Given the description of an element on the screen output the (x, y) to click on. 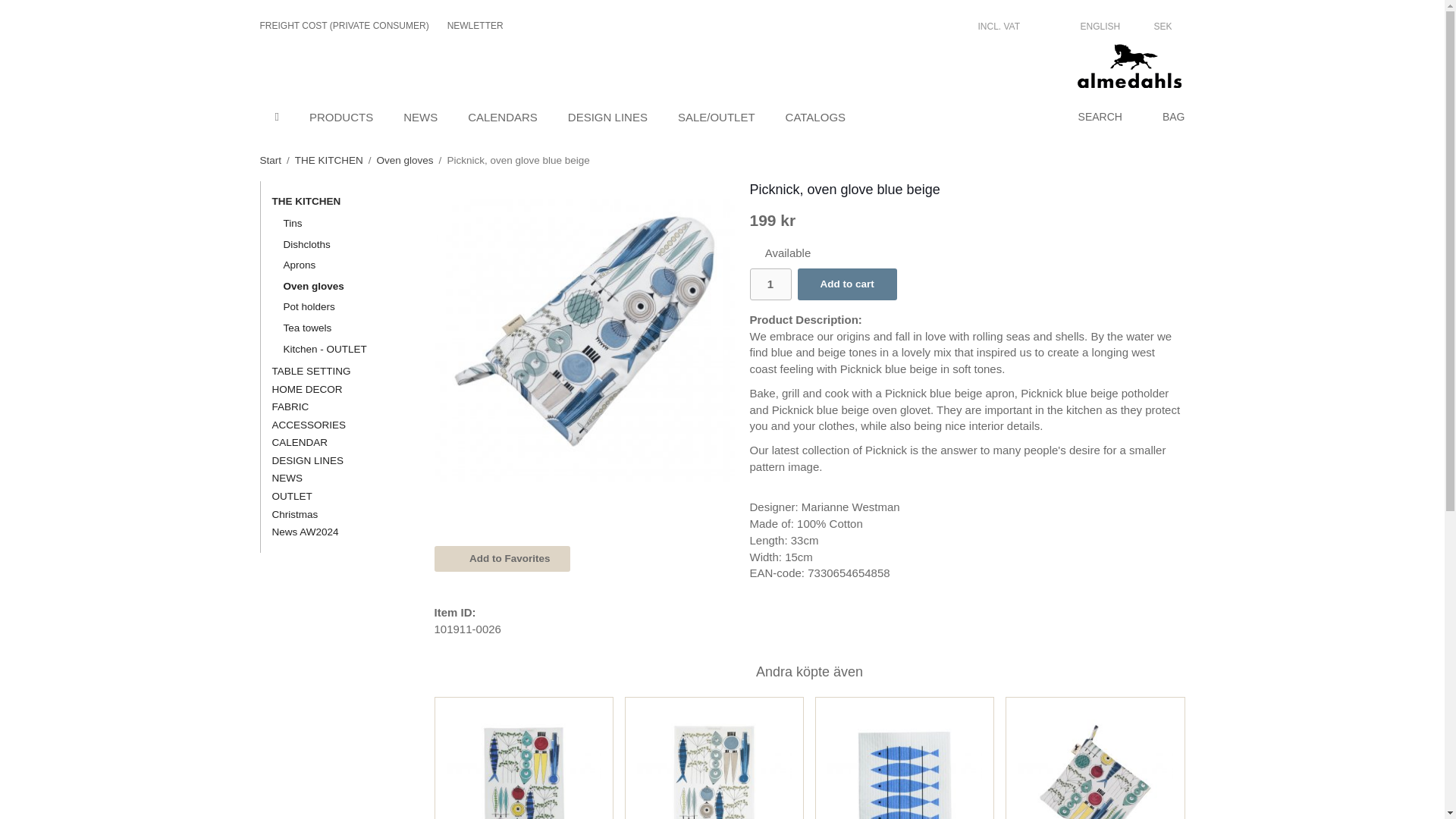
Dishcloths (341, 244)
Aprons (341, 265)
DESIGN LINES (607, 117)
TABLE SETTING (334, 371)
Pot holders (341, 306)
Aprons (341, 265)
NEWLETTER (475, 25)
Tea towels (341, 328)
THE KITCHEN (334, 201)
Oven gloves (405, 160)
Dishcloths (341, 244)
PRODUCTS (341, 117)
CATALOGS (815, 117)
Oven gloves (341, 286)
TABLE SETTING (334, 371)
